Given the description of an element on the screen output the (x, y) to click on. 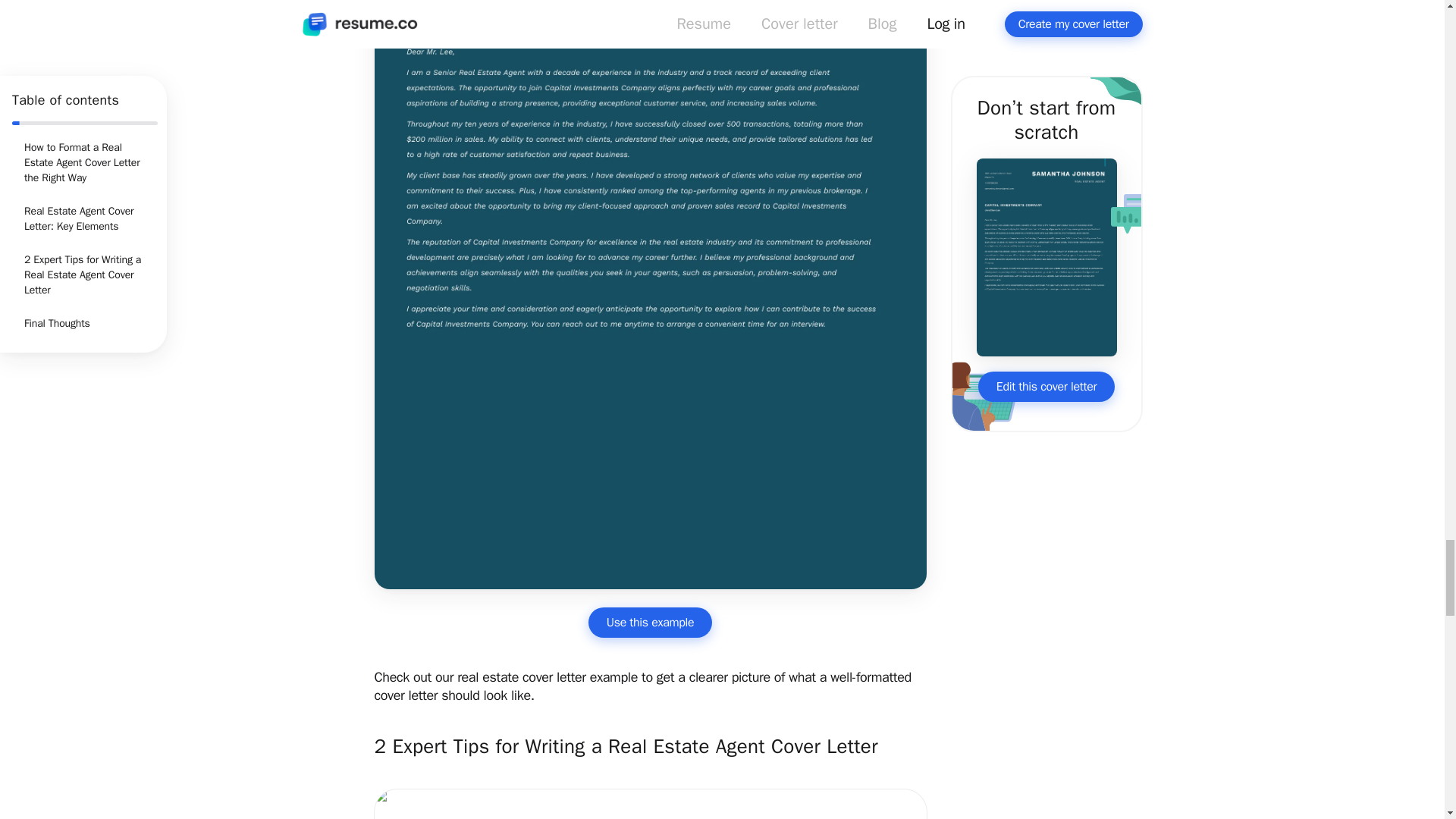
Use this example (649, 622)
